Given the description of an element on the screen output the (x, y) to click on. 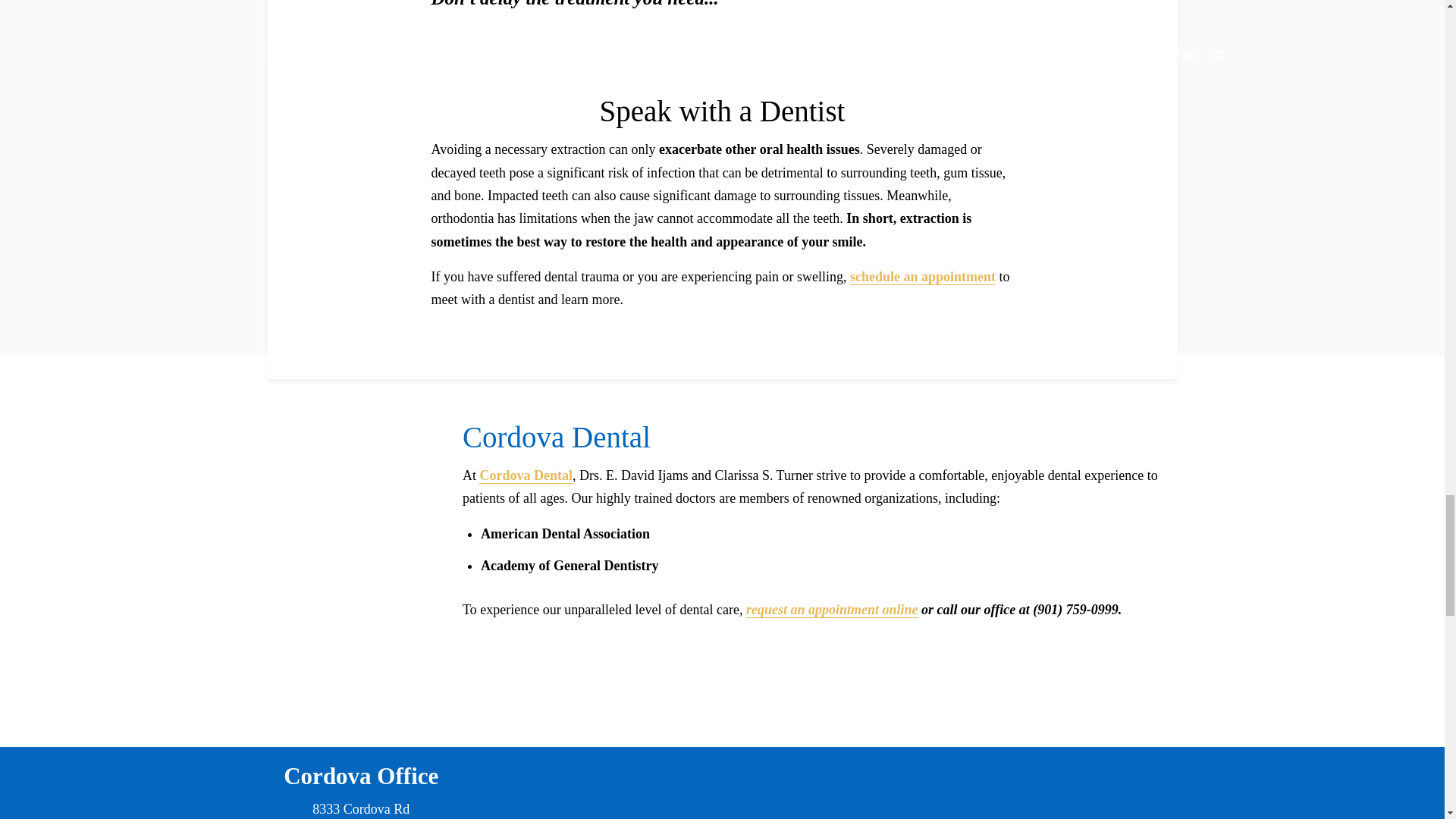
Cordova Office (360, 775)
schedule an appointment (922, 277)
Locations (979, 758)
request an appointment online (831, 609)
Cordova Dental (525, 475)
